Given the description of an element on the screen output the (x, y) to click on. 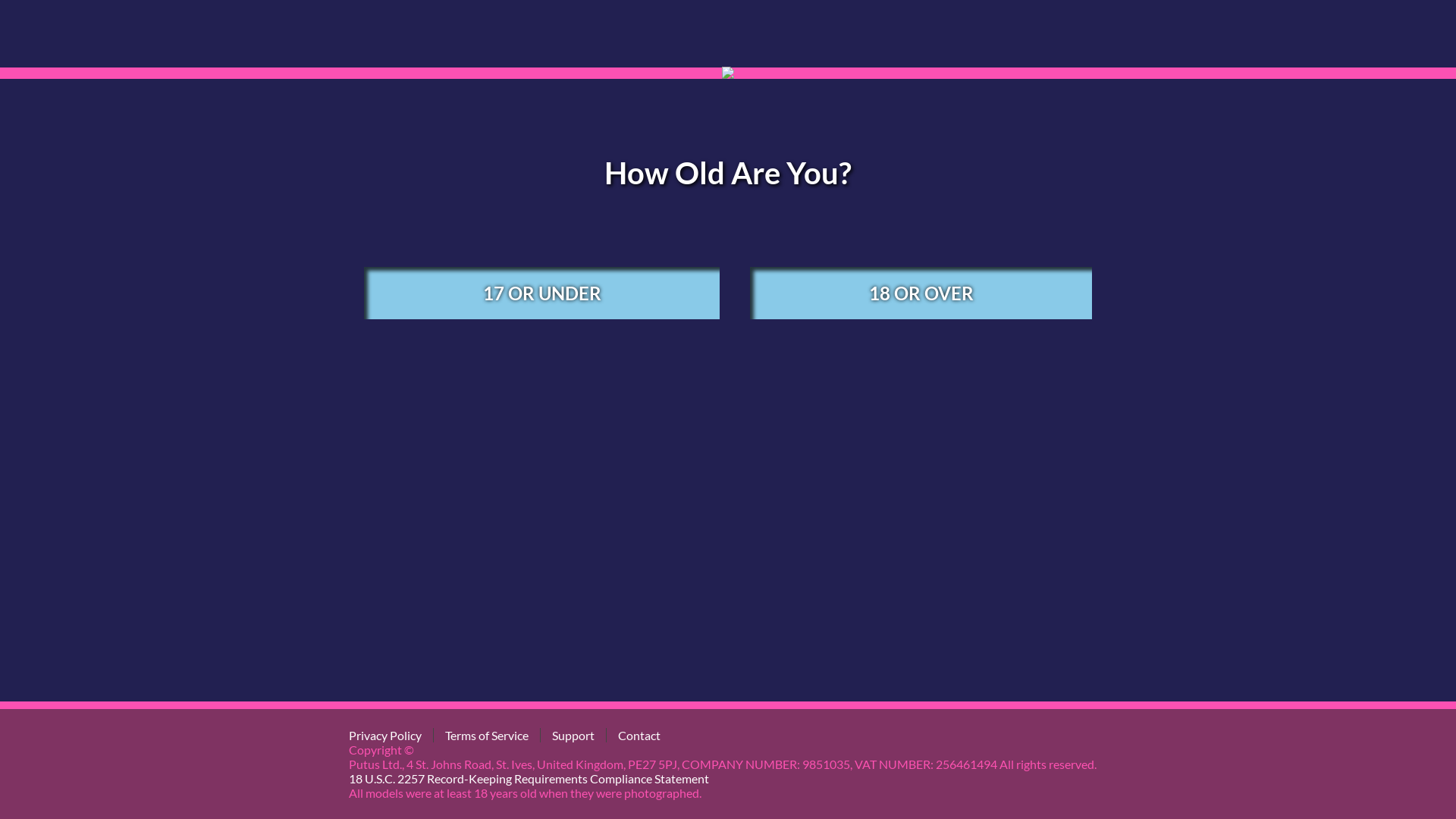
Contact Element type: text (639, 735)
Privacy Policy Element type: text (384, 735)
Terms of Service Element type: text (486, 735)
Support Element type: text (573, 735)
17 OR UNDER Element type: text (541, 292)
18 OR OVER Element type: text (920, 292)
